Given the description of an element on the screen output the (x, y) to click on. 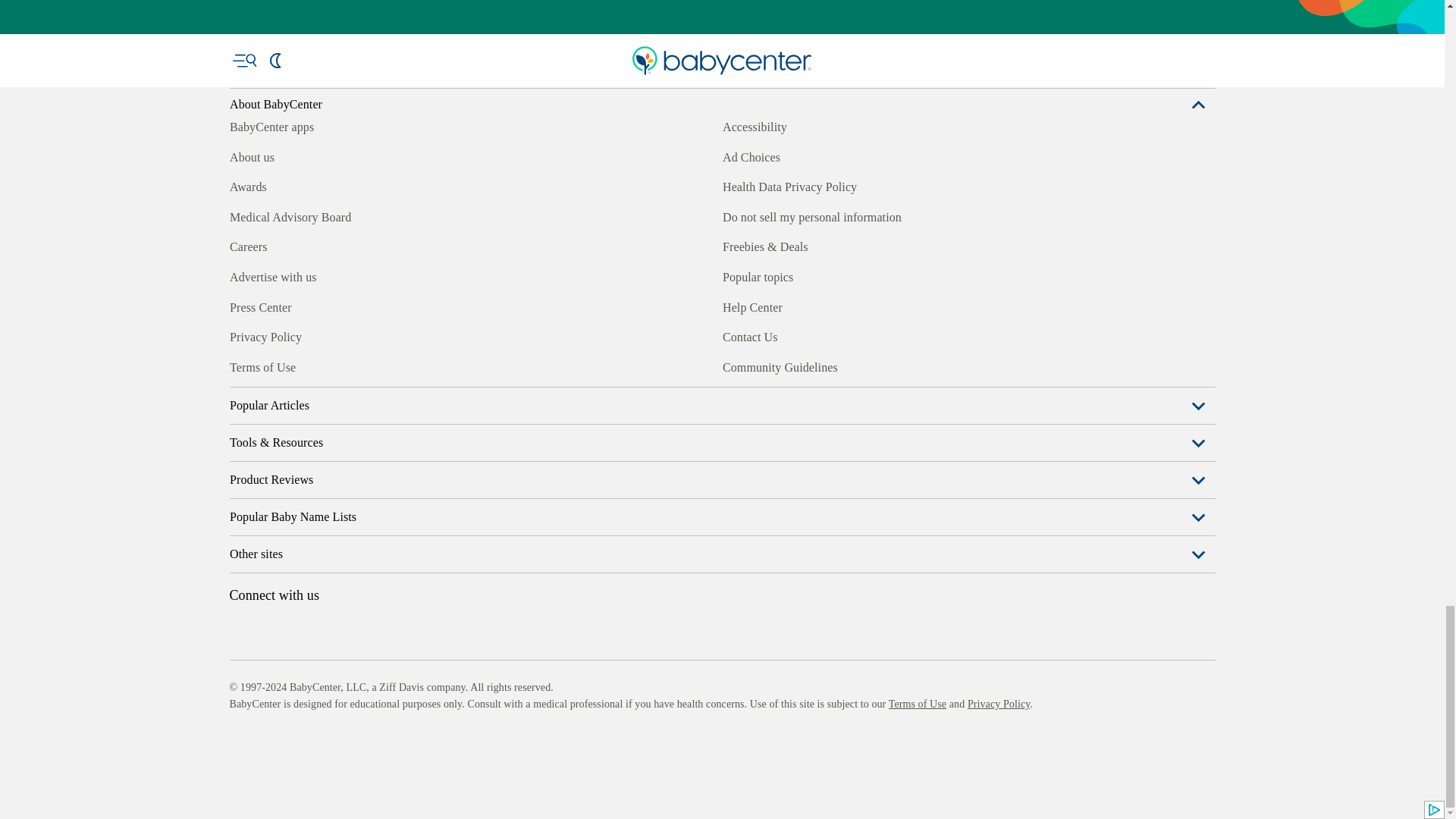
BabyCenter Twitter feed (379, 364)
BabyCenter Instagram feed (274, 364)
BabyCenter Pinterest board (309, 364)
BabyCenter Facebook page (239, 364)
BabyCenter YouTube channel (344, 364)
